Given the description of an element on the screen output the (x, y) to click on. 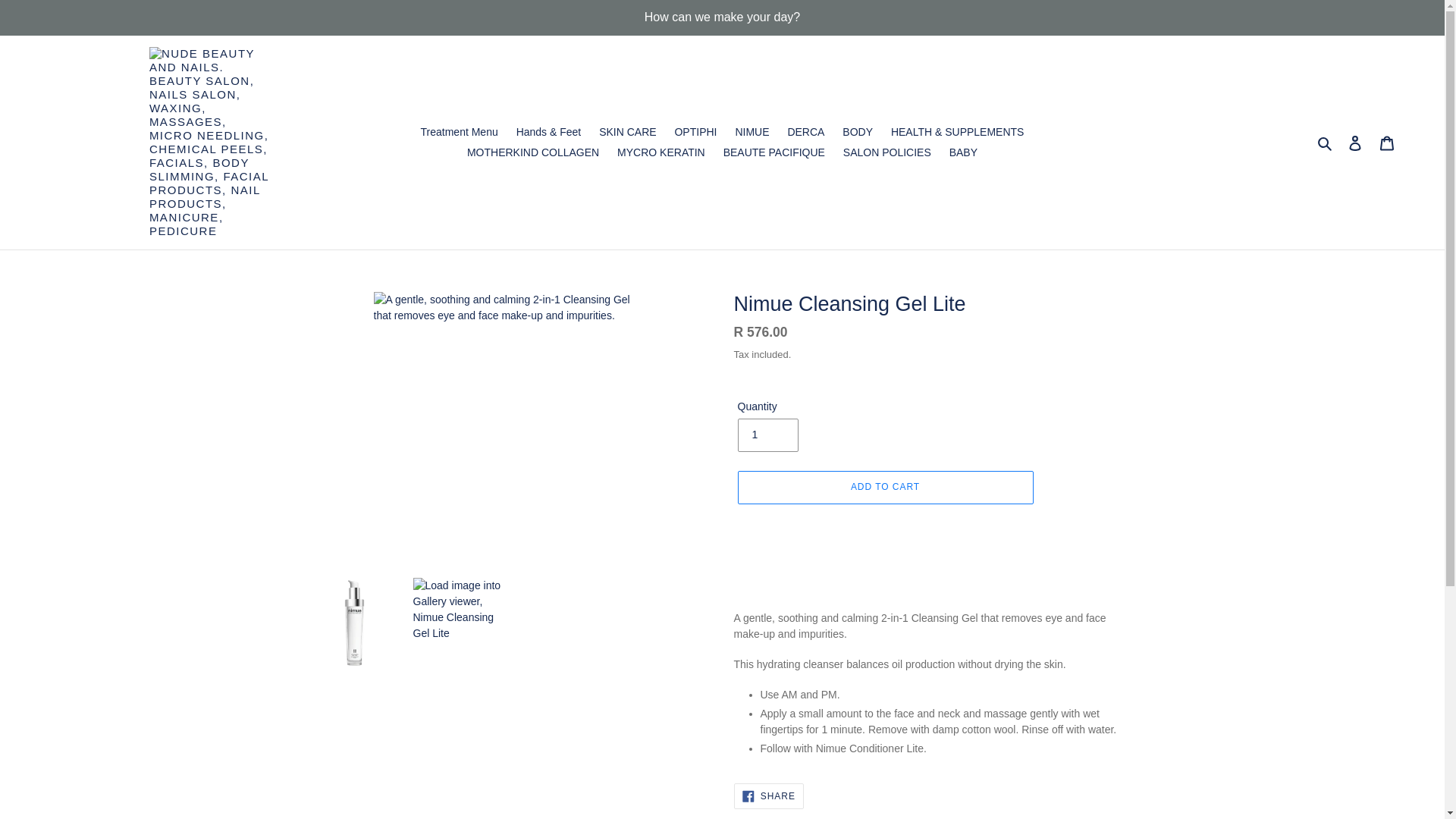
NIMUE (751, 132)
SALON POLICIES (887, 152)
Search (1326, 141)
BABY (963, 152)
SKIN CARE (627, 132)
MYCRO KERATIN (661, 152)
1 (766, 435)
DERCA (804, 132)
MOTHERKIND COLLAGEN (533, 152)
OPTIPHI (694, 132)
Cart (1387, 142)
BEAUTE PACIFIQUE (774, 152)
BODY (857, 132)
Treatment Menu (459, 132)
Log in (1355, 142)
